Given the description of an element on the screen output the (x, y) to click on. 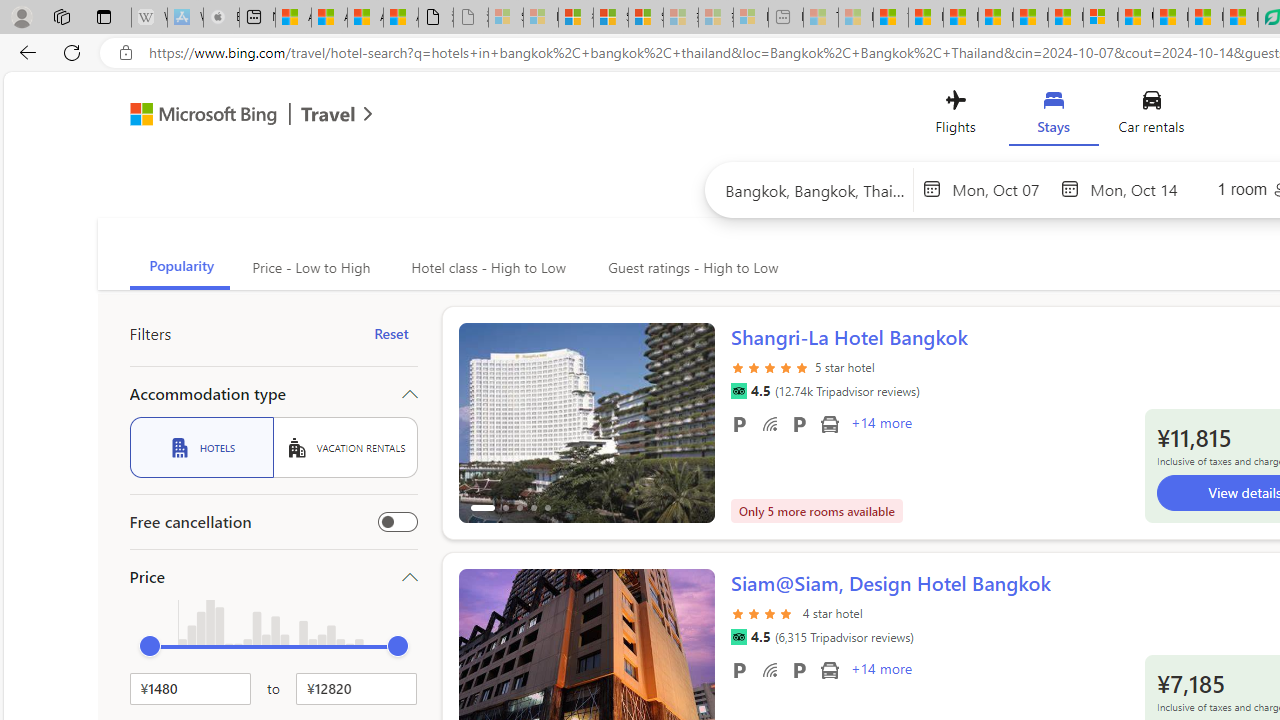
Marine life - MSN - Sleeping (855, 17)
Microsoft Services Agreement - Sleeping (540, 17)
Stays (1053, 116)
max  (397, 645)
Top Stories - MSN - Sleeping (820, 17)
min  (149, 645)
+14 More Amenities (880, 671)
Free parking (738, 669)
